Given the description of an element on the screen output the (x, y) to click on. 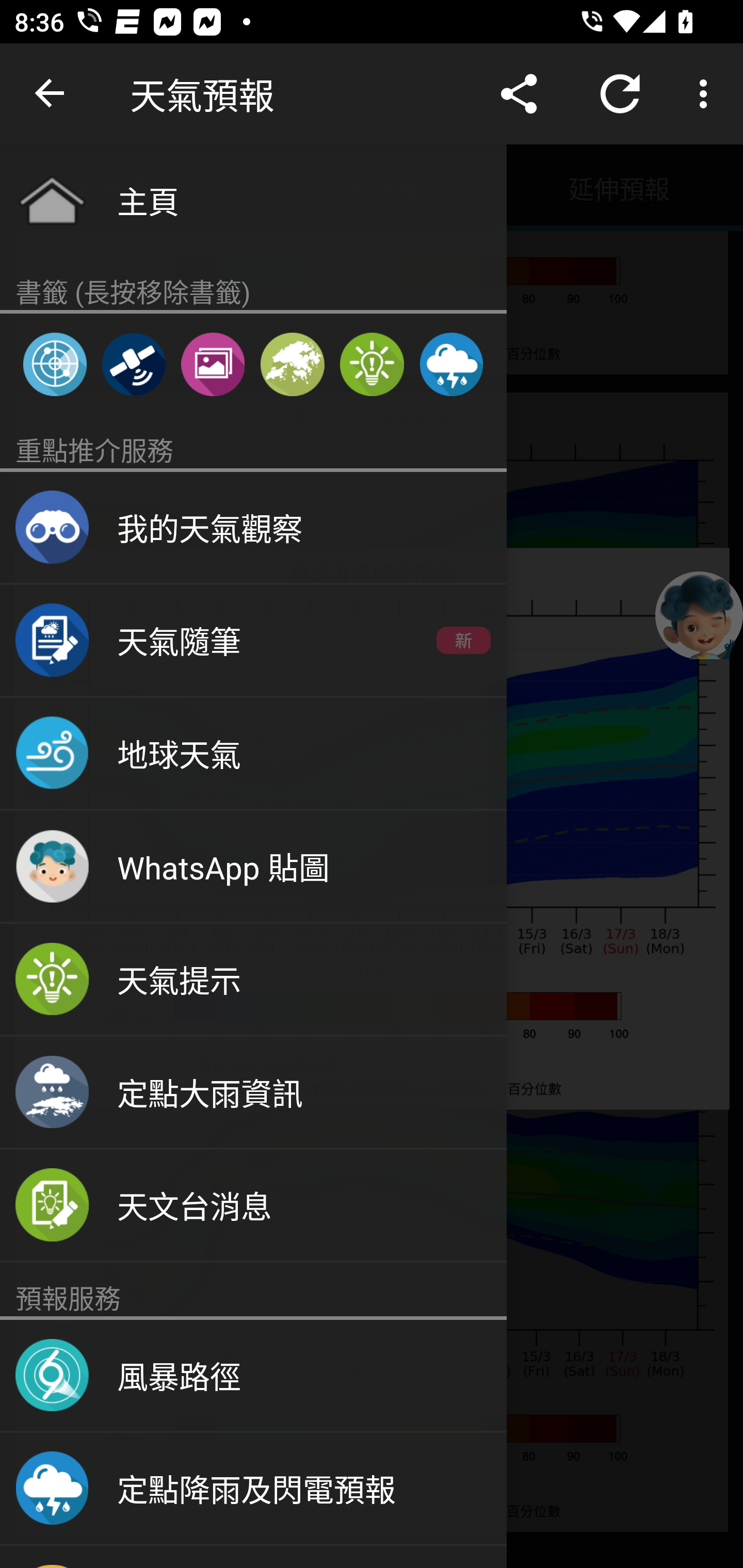
向上瀏覽 (50, 93)
分享 (518, 93)
重新整理 (619, 93)
更多選項 (706, 93)
本港預報 (123, 187)
雷達圖像 (54, 364)
衛星圖像 (133, 364)
天氣照片 (212, 364)
分區天氣 (292, 364)
天氣提示 (371, 364)
定點降雨及閃電預報 (451, 364)
我的天氣觀察 (253, 527)
天氣隨筆 新功能 (253, 640)
地球天氣 (253, 753)
WhatsApp 貼圖 (253, 866)
天氣提示 (253, 979)
定點大雨資訊 (253, 1092)
天文台消息 (253, 1205)
風暴路徑 (253, 1375)
定點降雨及閃電預報 (253, 1488)
